Given the description of an element on the screen output the (x, y) to click on. 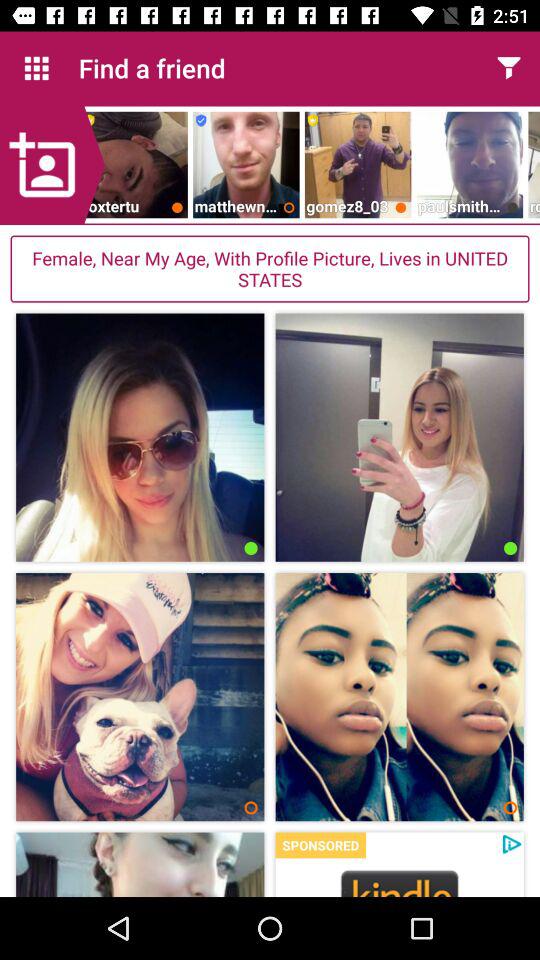
tap the item below sponsored icon (399, 882)
